Given the description of an element on the screen output the (x, y) to click on. 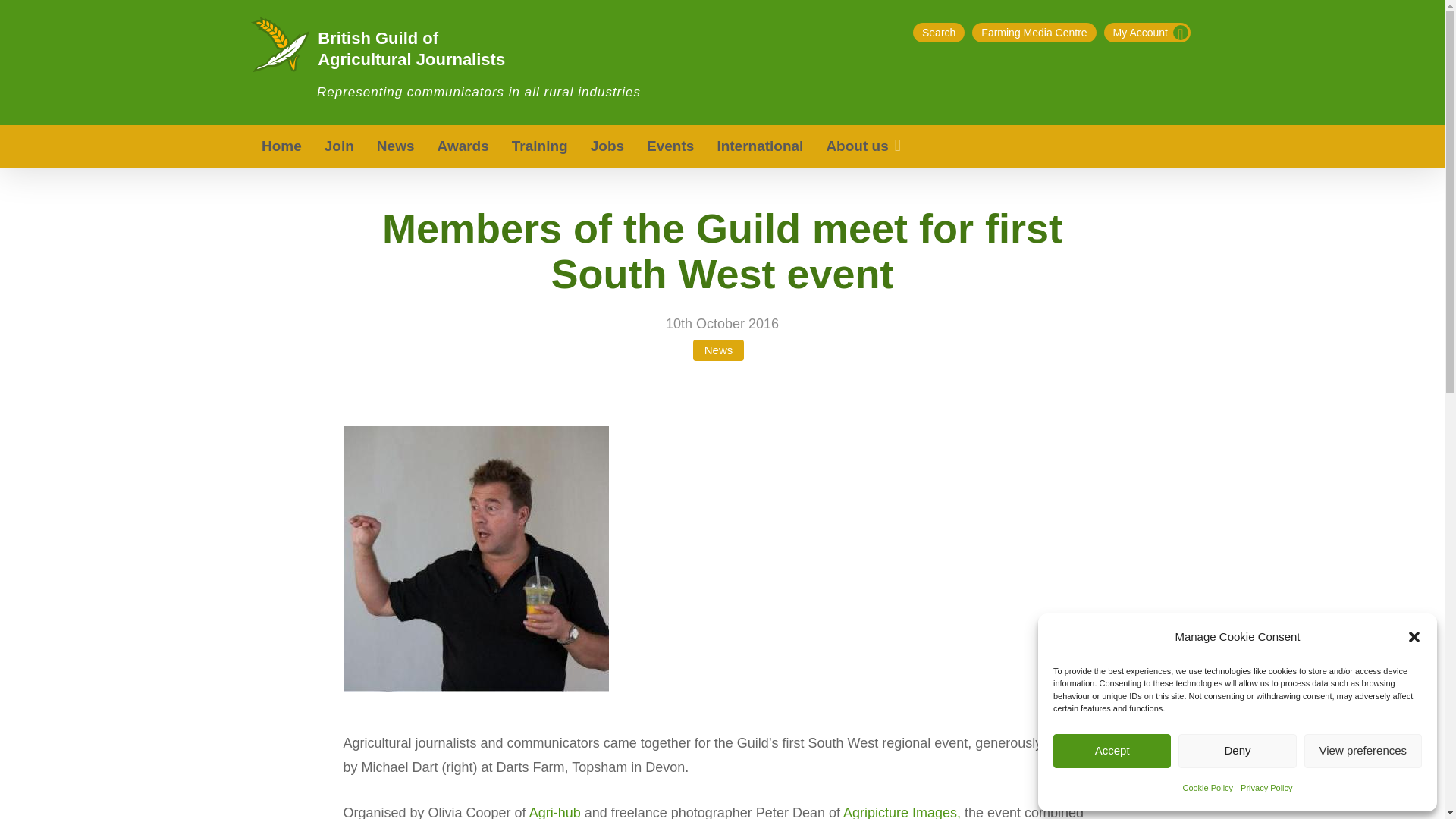
Cookie Policy (1207, 787)
Farming Media Centre (1034, 32)
International (758, 146)
My Account (1147, 32)
Privacy Policy (1266, 787)
News (395, 146)
View preferences (1363, 750)
Training (539, 146)
Search (937, 32)
About us (863, 146)
Jobs (606, 146)
Home (281, 146)
Deny (1236, 750)
Events (669, 146)
Join (339, 146)
